Given the description of an element on the screen output the (x, y) to click on. 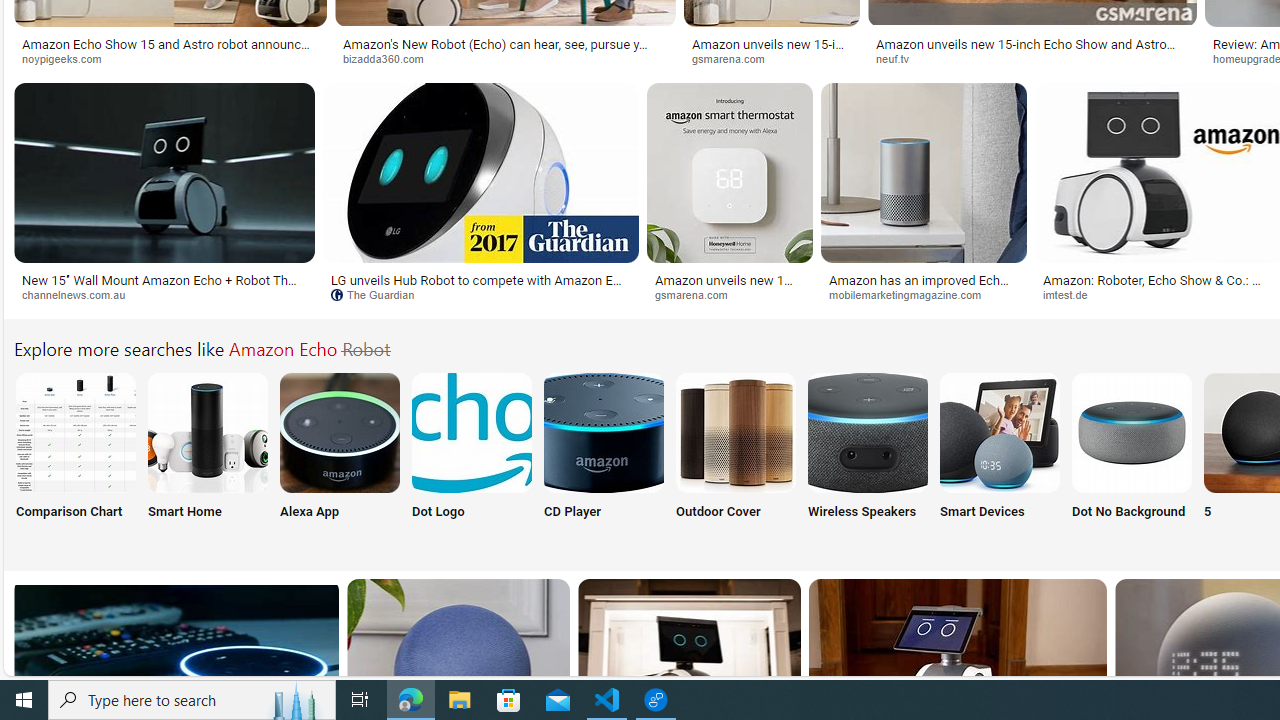
Alexa App (339, 457)
neuf.tv (1032, 58)
gsmarena.com (698, 294)
Amazon Echo Outdoor Cover Outdoor Cover (735, 458)
Wireless Speakers (867, 457)
Amazon Echo Outdoor Cover (735, 432)
Smart Home (207, 457)
noypigeeks.com (68, 57)
The Guardian (379, 294)
